Given the description of an element on the screen output the (x, y) to click on. 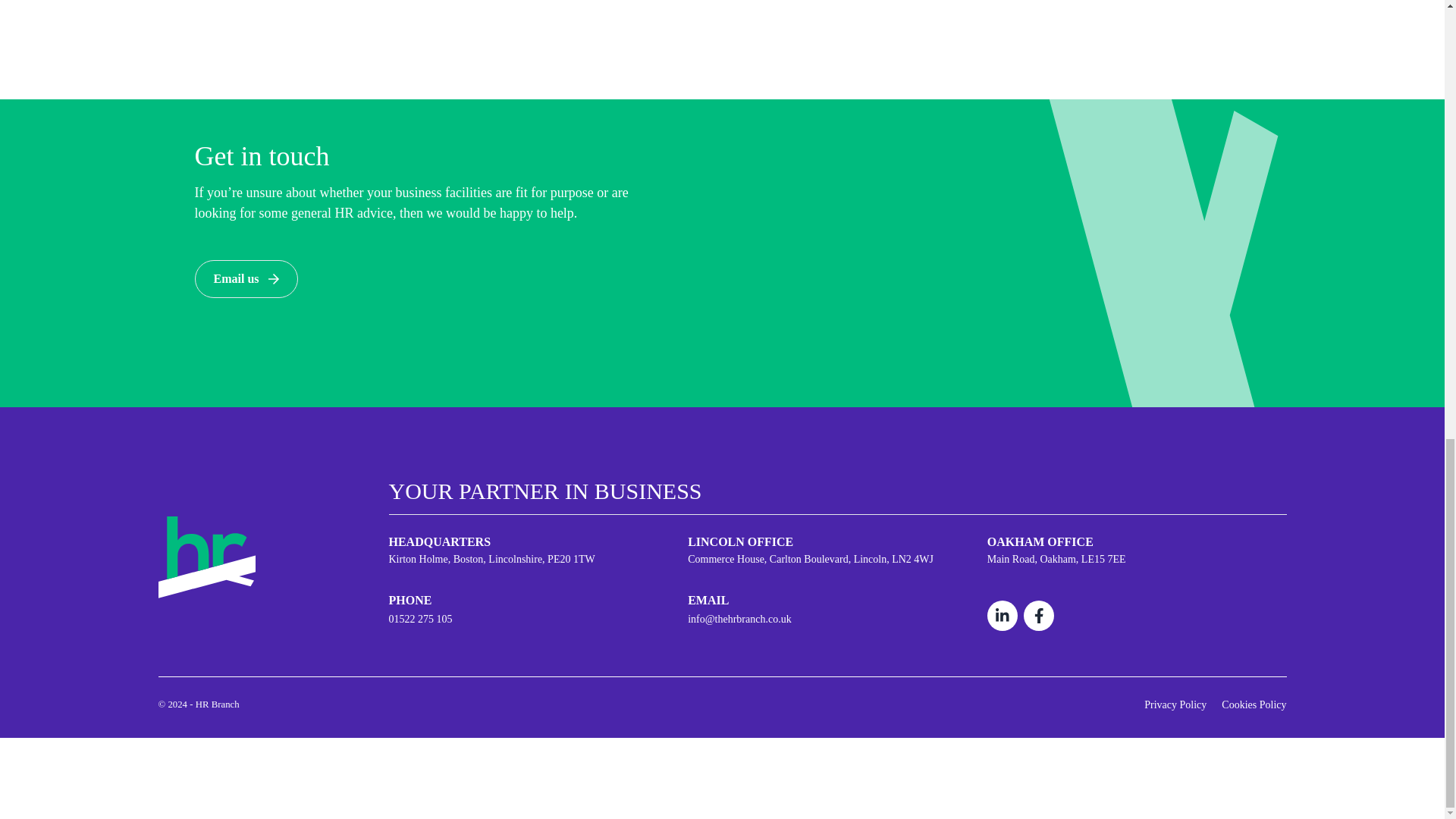
Privacy Policy (1175, 704)
01522 275 105 (537, 618)
Cookies Policy (1253, 704)
Email us (245, 279)
HR Branch (205, 555)
